Given the description of an element on the screen output the (x, y) to click on. 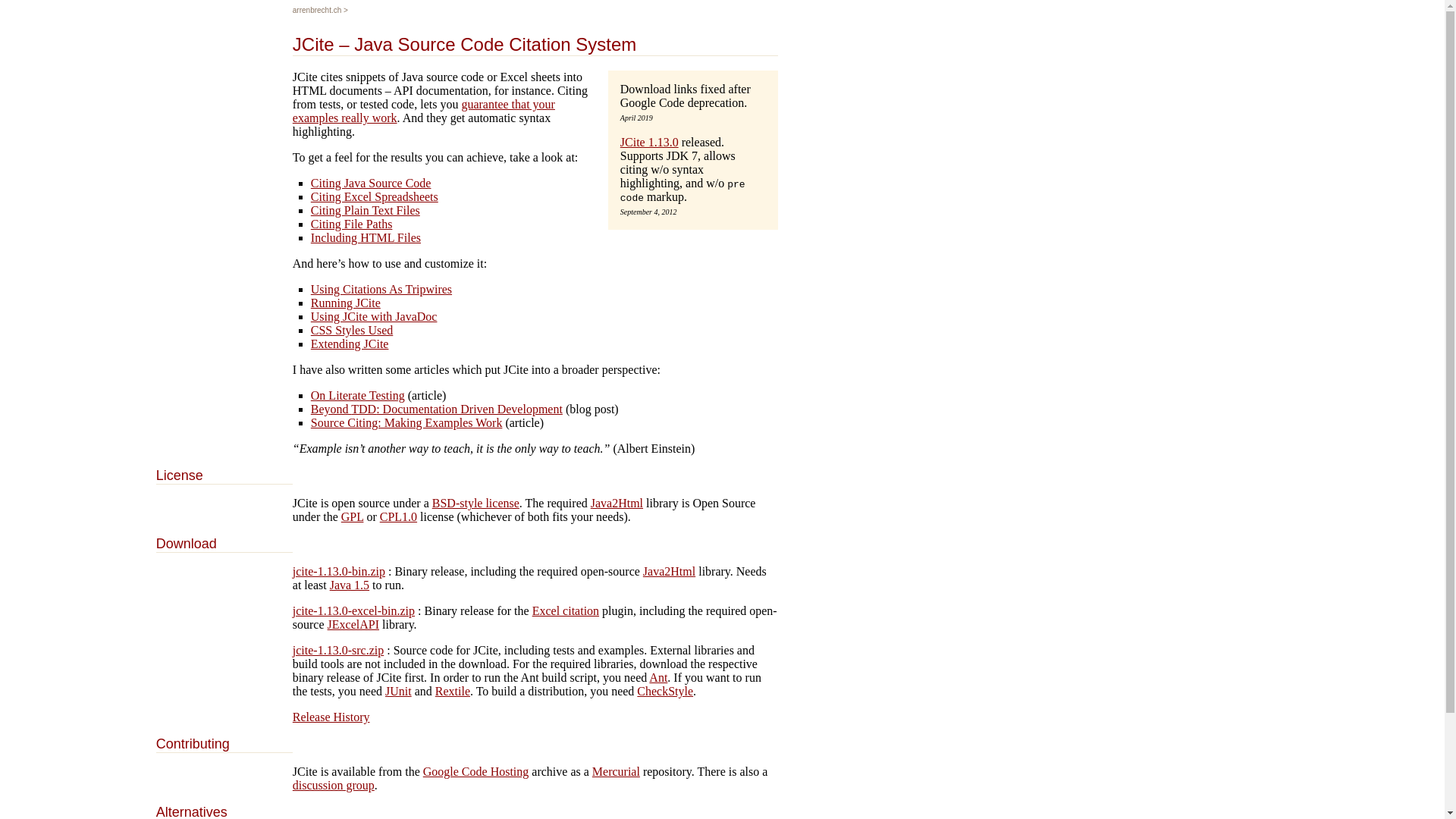
JCite 1.13.0 Element type: text (649, 141)
JExcelAPI Element type: text (353, 624)
Extending JCite Element type: text (349, 343)
Rextile Element type: text (452, 690)
Citing File Paths Element type: text (351, 223)
arrenbrecht.ch Element type: text (316, 10)
Mercurial Element type: text (616, 771)
Including HTML Files Element type: text (365, 237)
Google Code Hosting Element type: text (476, 771)
Excel citation Element type: text (565, 610)
Release History Element type: text (331, 716)
Using JCite with JavaDoc Element type: text (373, 316)
jcite-1.13.0-bin.zip Element type: text (338, 570)
CheckStyle Element type: text (665, 690)
On Literate Testing Element type: text (357, 395)
CPL1.0 Element type: text (398, 516)
Citing Java Source Code Element type: text (370, 182)
Beyond TDD: Documentation Driven Development Element type: text (436, 408)
JUnit Element type: text (398, 690)
guarantee that your examples really work Element type: text (423, 110)
GPL Element type: text (352, 516)
Java2Html Element type: text (669, 570)
Java2Html Element type: text (616, 502)
Ant Element type: text (658, 677)
Using Citations As Tripwires Element type: text (380, 288)
jcite-1.13.0-src.zip Element type: text (337, 649)
BSD-style license Element type: text (475, 502)
discussion group Element type: text (333, 784)
CSS Styles Used Element type: text (351, 329)
Citing Excel Spreadsheets Element type: text (374, 196)
Java 1.5 Element type: text (349, 584)
Source Citing: Making Examples Work Element type: text (406, 422)
jcite-1.13.0-excel-bin.zip Element type: text (353, 610)
Running JCite Element type: text (345, 302)
Citing Plain Text Files Element type: text (365, 209)
